Given the description of an element on the screen output the (x, y) to click on. 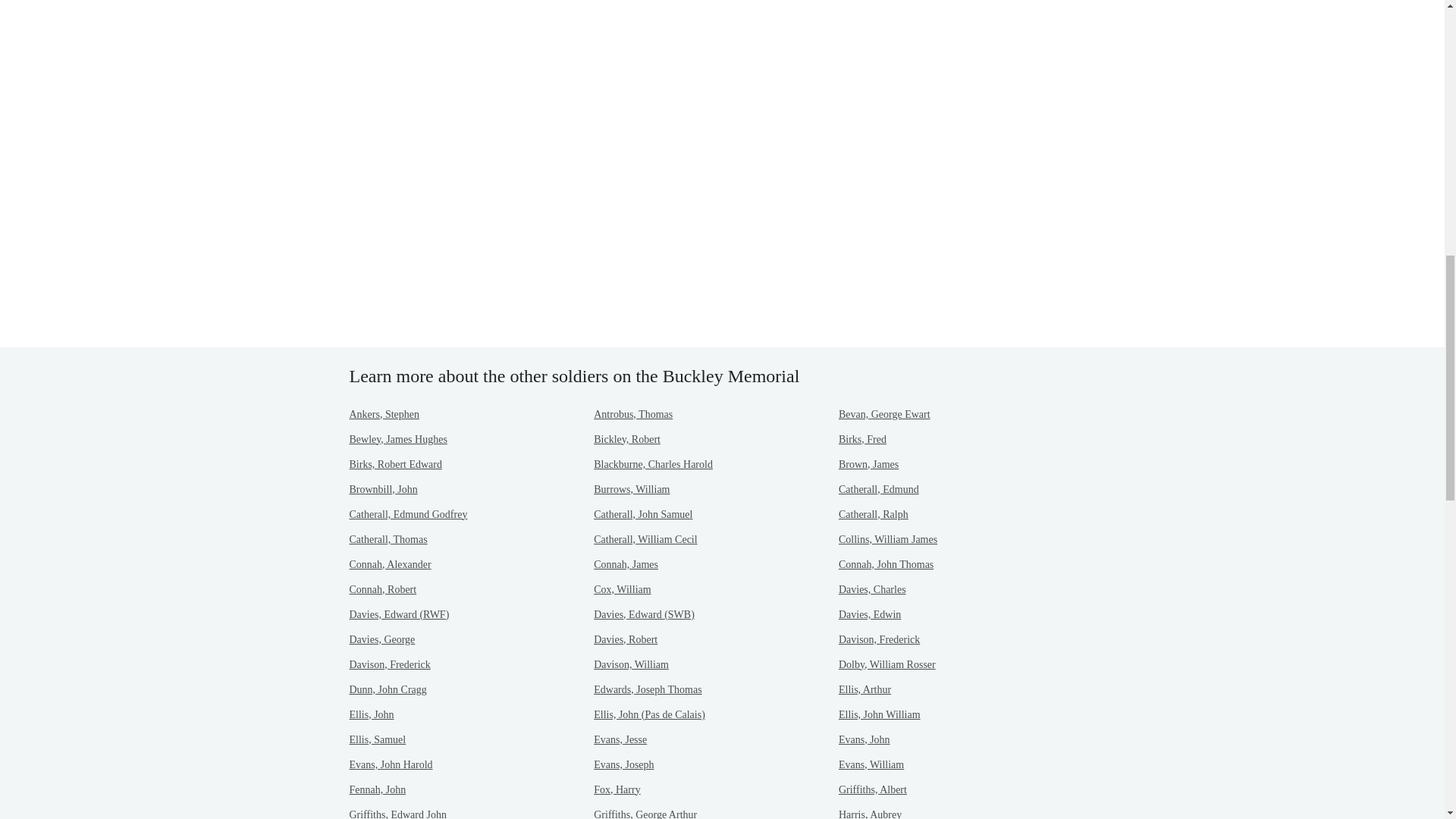
Antrobus, Thomas (633, 414)
Bevan, George Ewart (884, 414)
Catherall, William Cecil (645, 539)
Connah, Alexander (389, 564)
Birks, Fred (862, 439)
Catherall, John Samuel (643, 514)
Ankers, Stephen (384, 414)
Catherall, Thomas (387, 539)
Brownbill, John (382, 489)
Bewley, James Hughes (397, 439)
Bickley, Robert (627, 439)
Burrows, William (631, 489)
Catherall, Ralph (873, 514)
Catherall, Edmund (878, 489)
Brown, James (868, 464)
